Given the description of an element on the screen output the (x, y) to click on. 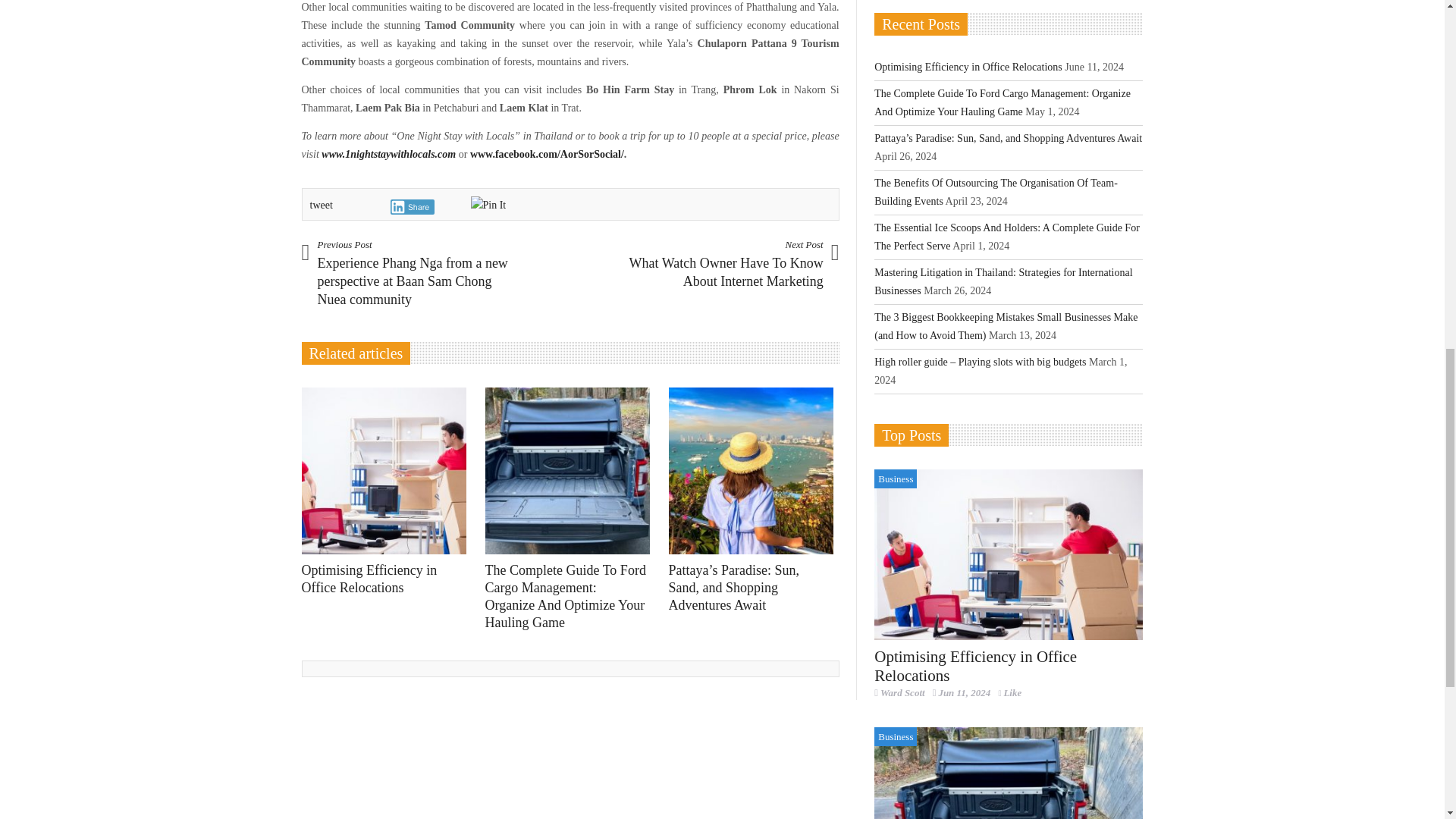
Like (1009, 692)
Posts by Ward Scott (902, 692)
Optimising Efficiency in Office Relocations (1008, 554)
Optimising Efficiency in Office Relocations (387, 470)
Pin It (487, 205)
